Given the description of an element on the screen output the (x, y) to click on. 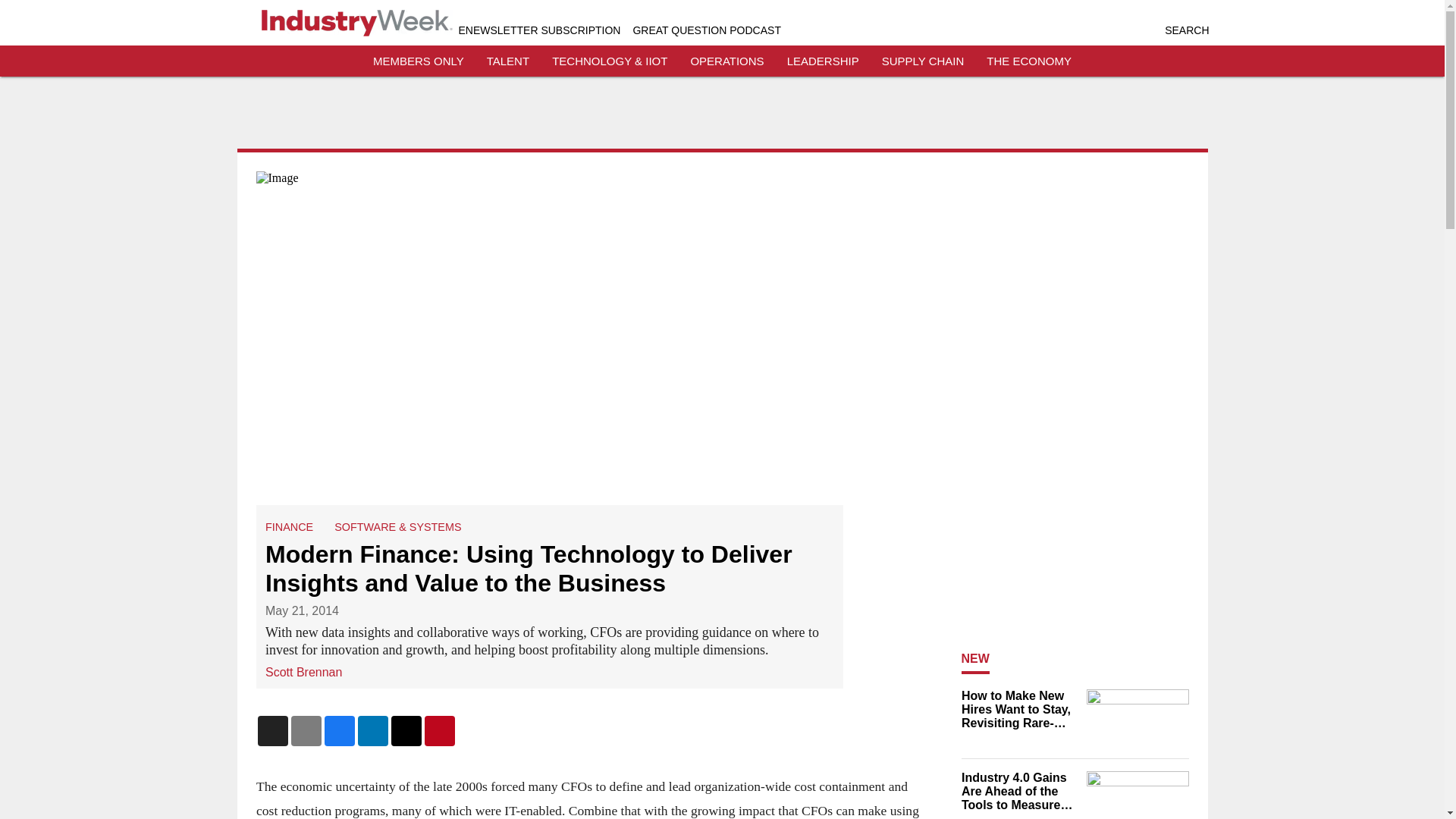
ENEWSLETTER SUBSCRIPTION (539, 30)
THE ECONOMY (1029, 60)
LEADERSHIP (823, 60)
OPERATIONS (726, 60)
GREAT QUESTION PODCAST (705, 30)
SUPPLY CHAIN (922, 60)
Scott Brennan (303, 671)
SEARCH (1186, 30)
MEMBERS ONLY (418, 60)
Industry 4.0 Gains Are Ahead of the Tools to Measure Them (1019, 791)
TALENT (507, 60)
FINANCE (288, 526)
